Given the description of an element on the screen output the (x, y) to click on. 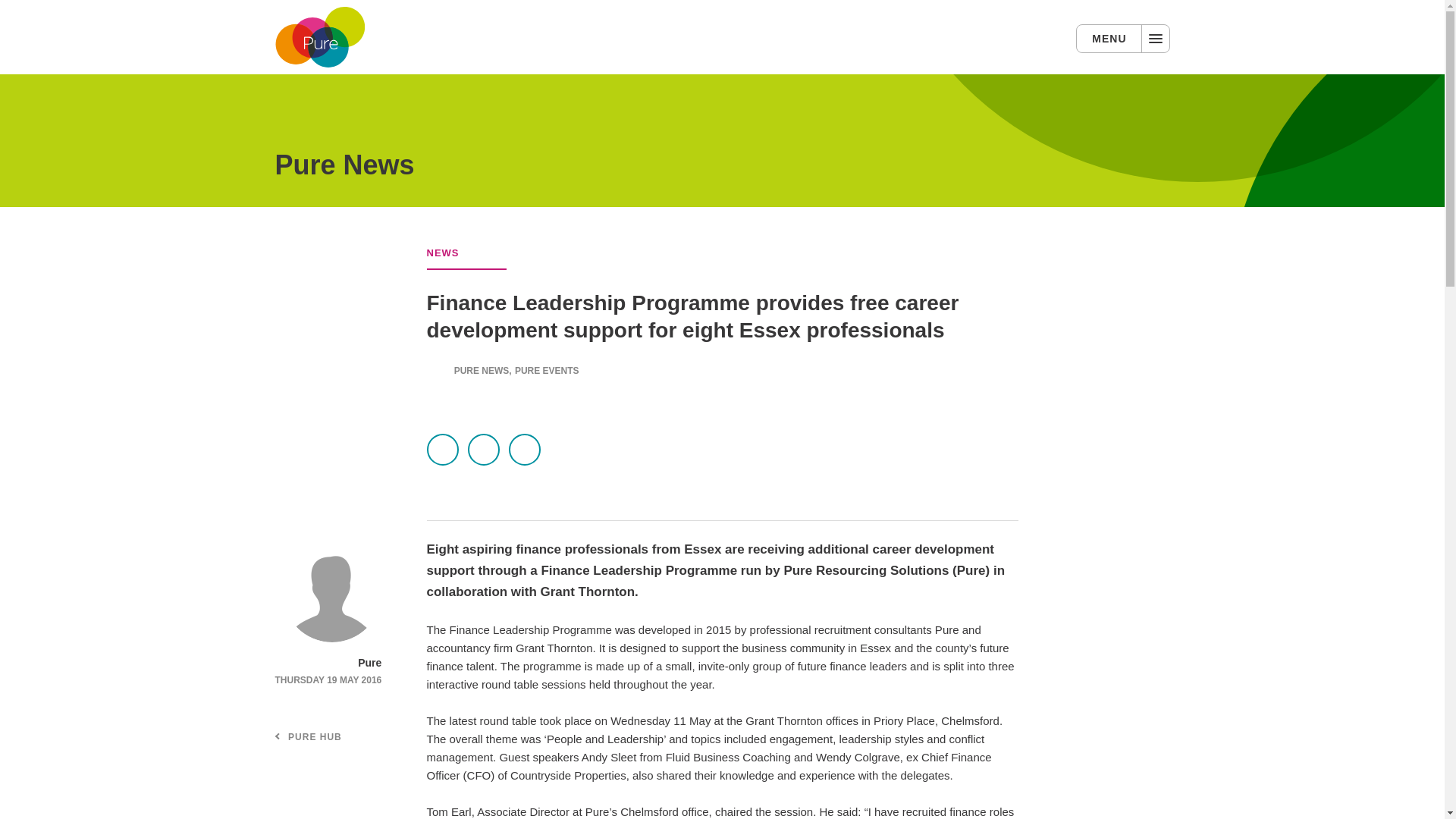
PURE NEWS (481, 370)
Pure Resourcing Solutions logo (320, 37)
MENU (1122, 38)
PURE EVENTS (547, 370)
Subscribe (121, 715)
Pure Resourcing Solutions logo (320, 36)
Share on Facebook (483, 450)
NEWS (442, 253)
Share on X (442, 450)
PURE HUB (315, 737)
